Given the description of an element on the screen output the (x, y) to click on. 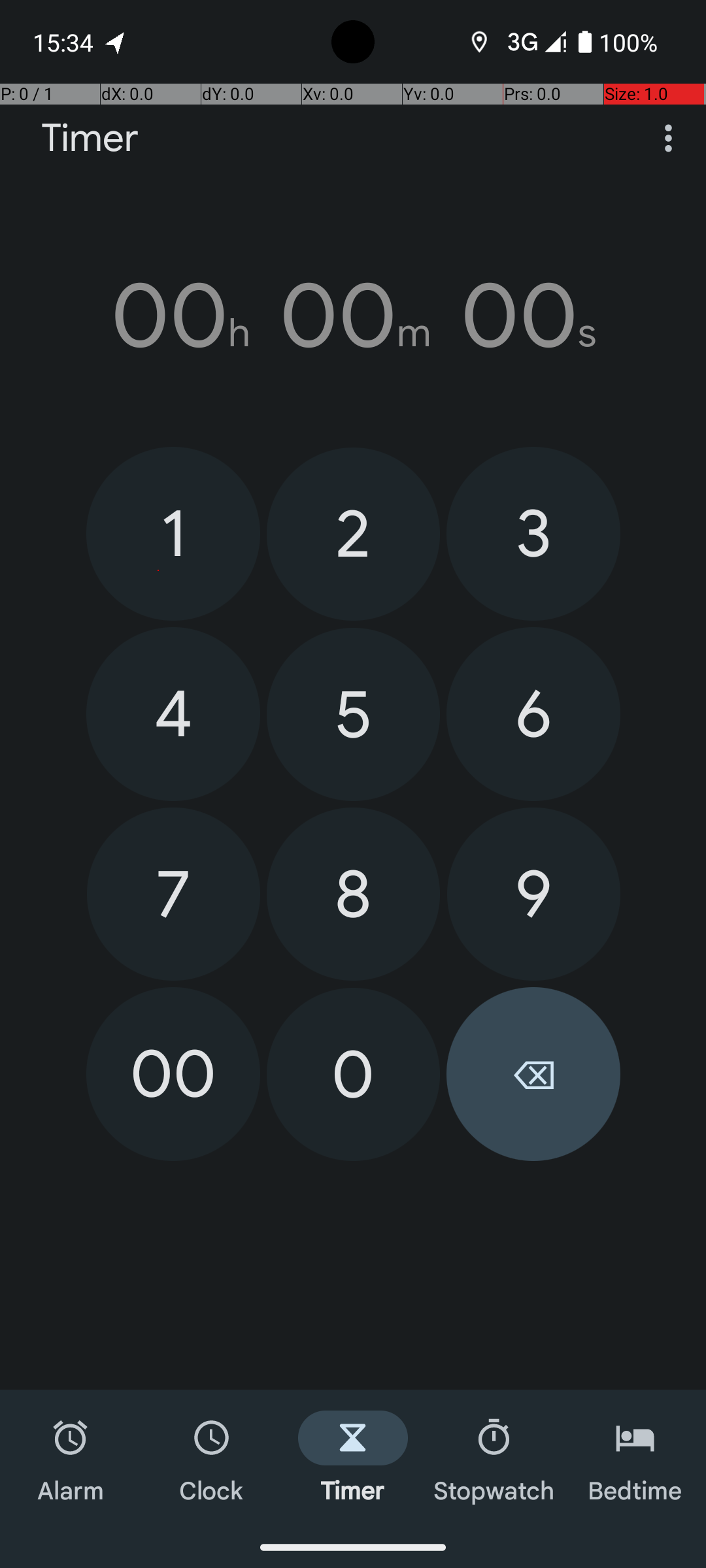
00h 00m 00s Element type: android.widget.TextView (353, 315)
